Given the description of an element on the screen output the (x, y) to click on. 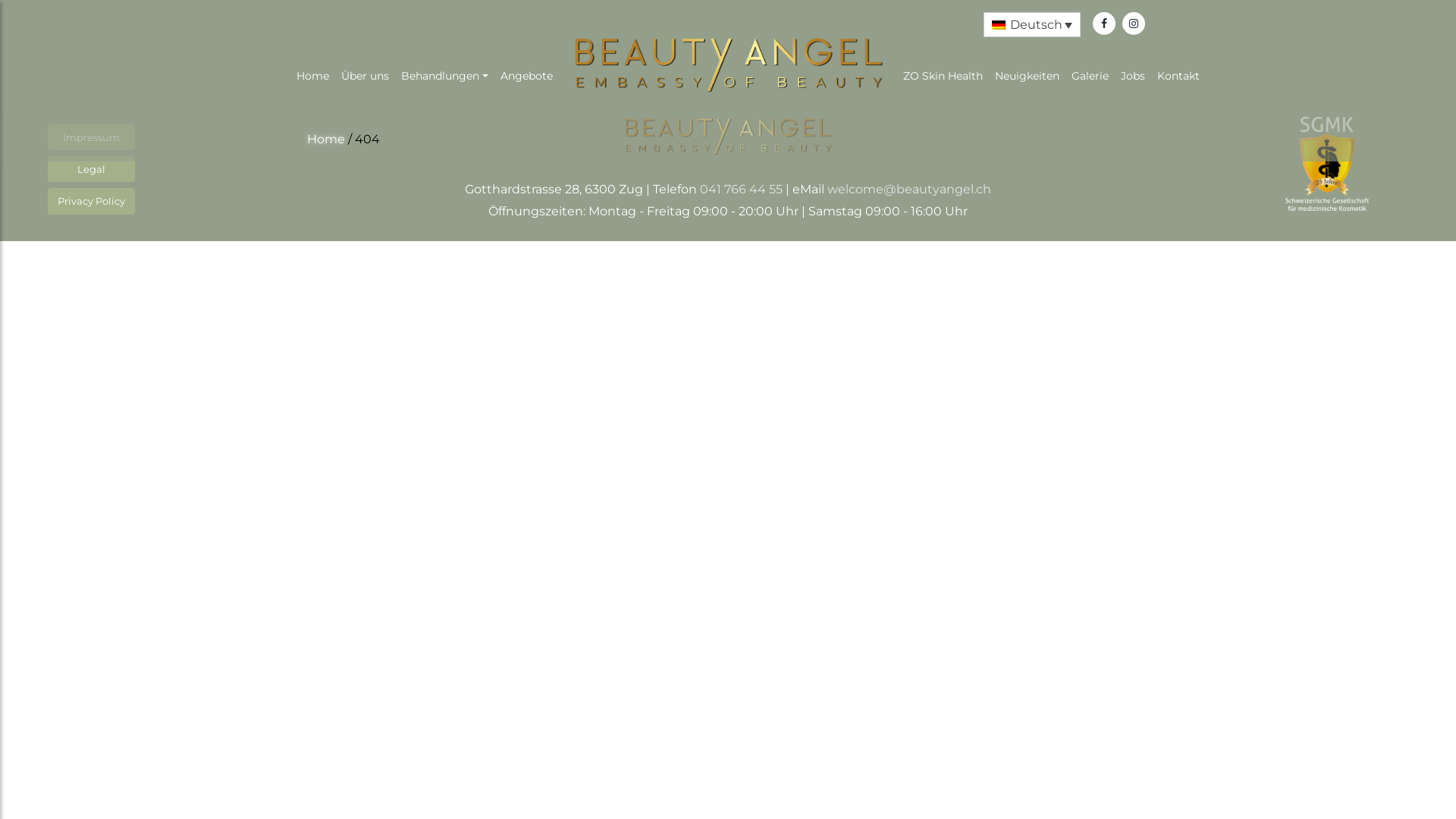
Neuigkeiten Element type: text (1026, 76)
Privacy Policy Element type: text (90, 200)
Behandlungen Element type: text (444, 76)
Angebote Element type: text (526, 76)
welcome@beautyangel.ch Element type: text (909, 189)
041 766 44 55 Element type: text (740, 189)
Jobs Element type: text (1132, 76)
Legal Element type: text (90, 169)
Galerie Element type: text (1089, 76)
Deutsch Element type: hover (998, 24)
Deutsch Element type: text (1031, 24)
Home Element type: text (326, 138)
Kontakt Element type: text (1178, 76)
Impressum Element type: text (90, 137)
Home Element type: text (312, 76)
ZO Skin Health Element type: text (942, 76)
